Given the description of an element on the screen output the (x, y) to click on. 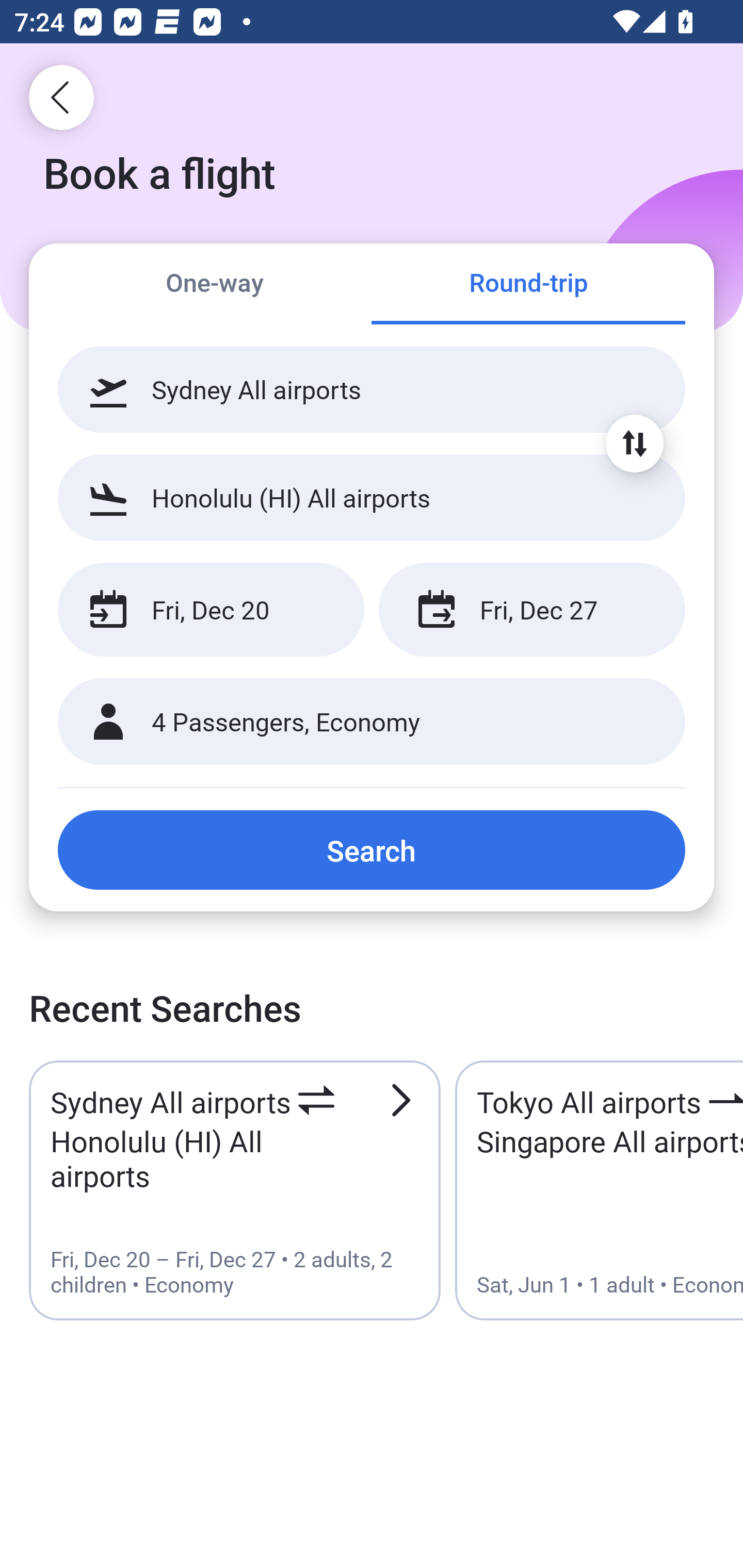
One-way (214, 284)
Sydney All airports (371, 389)
Honolulu (HI) All airports (371, 497)
Fri, Dec 20 (210, 609)
Fri, Dec 27 (531, 609)
4 Passengers, Economy (371, 721)
Search (371, 849)
